Given the description of an element on the screen output the (x, y) to click on. 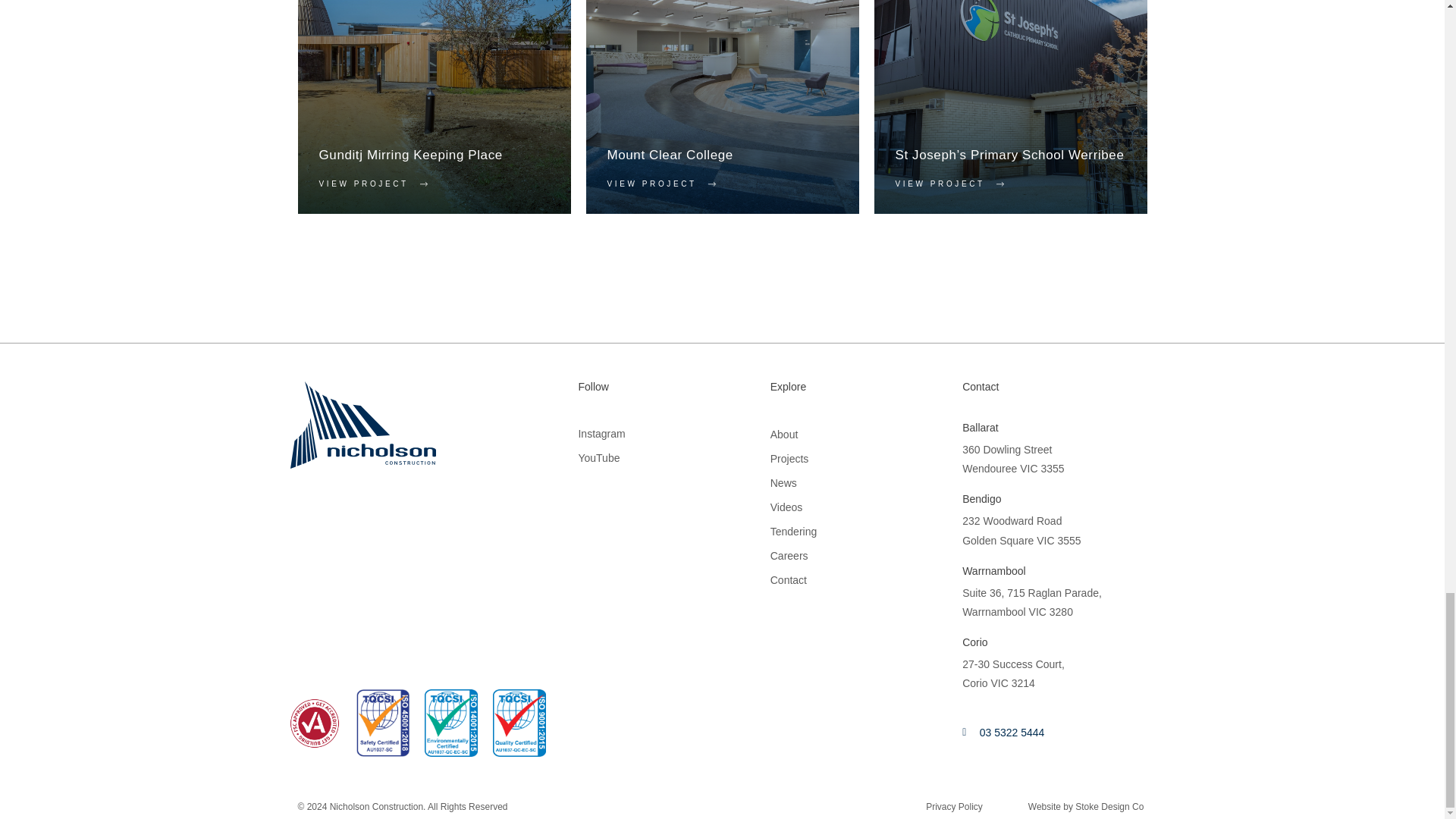
Gunditj Mirring Keeping Place (410, 155)
Mount Clear College (669, 155)
Instagram (601, 433)
